Given the description of an element on the screen output the (x, y) to click on. 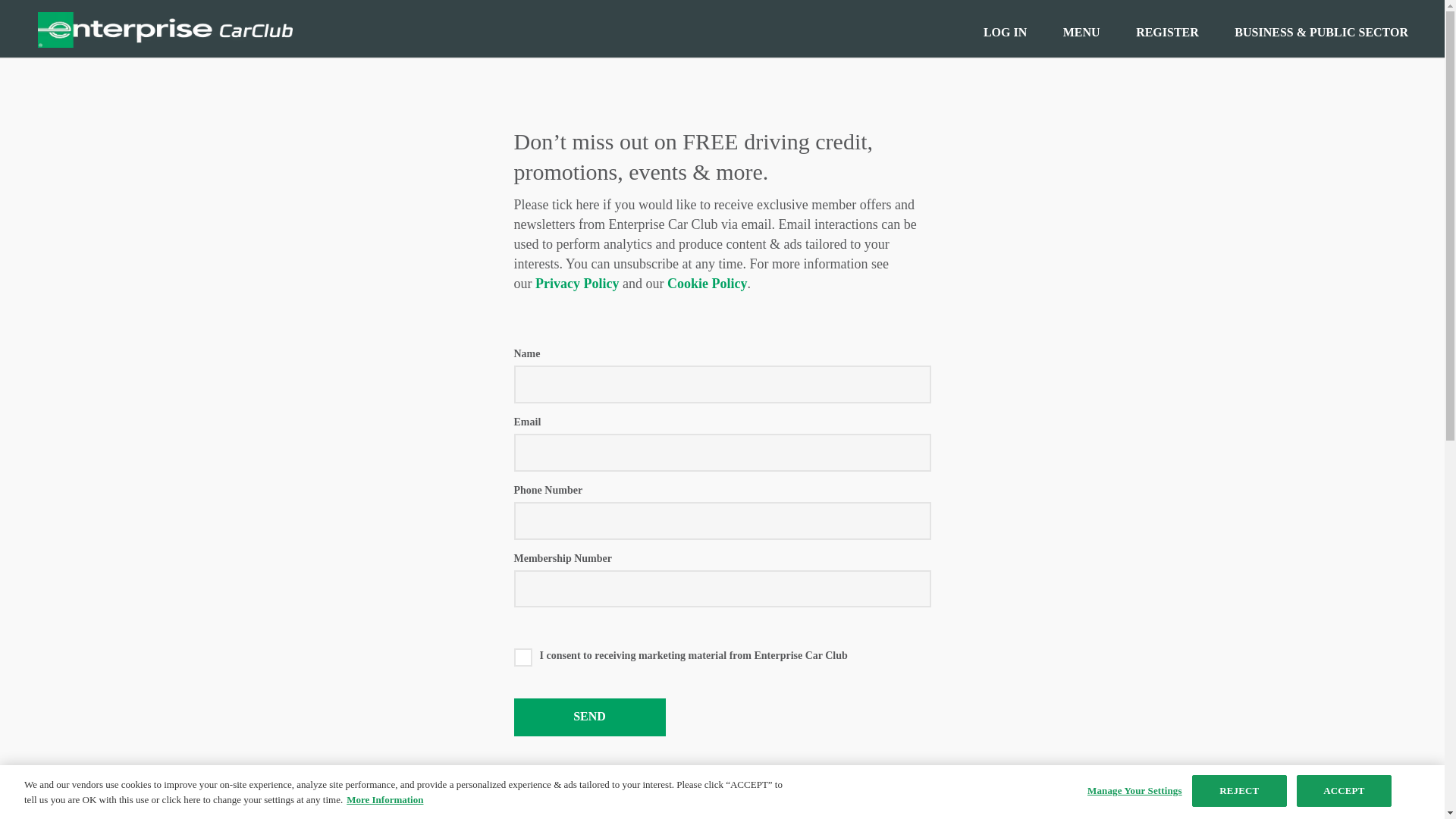
Cookie Policy (707, 283)
Enterprise CarClub (164, 28)
SEND (589, 717)
REGISTER (1166, 31)
LOG IN (1005, 31)
MENU (1081, 31)
Privacy Policy (576, 283)
